Given the description of an element on the screen output the (x, y) to click on. 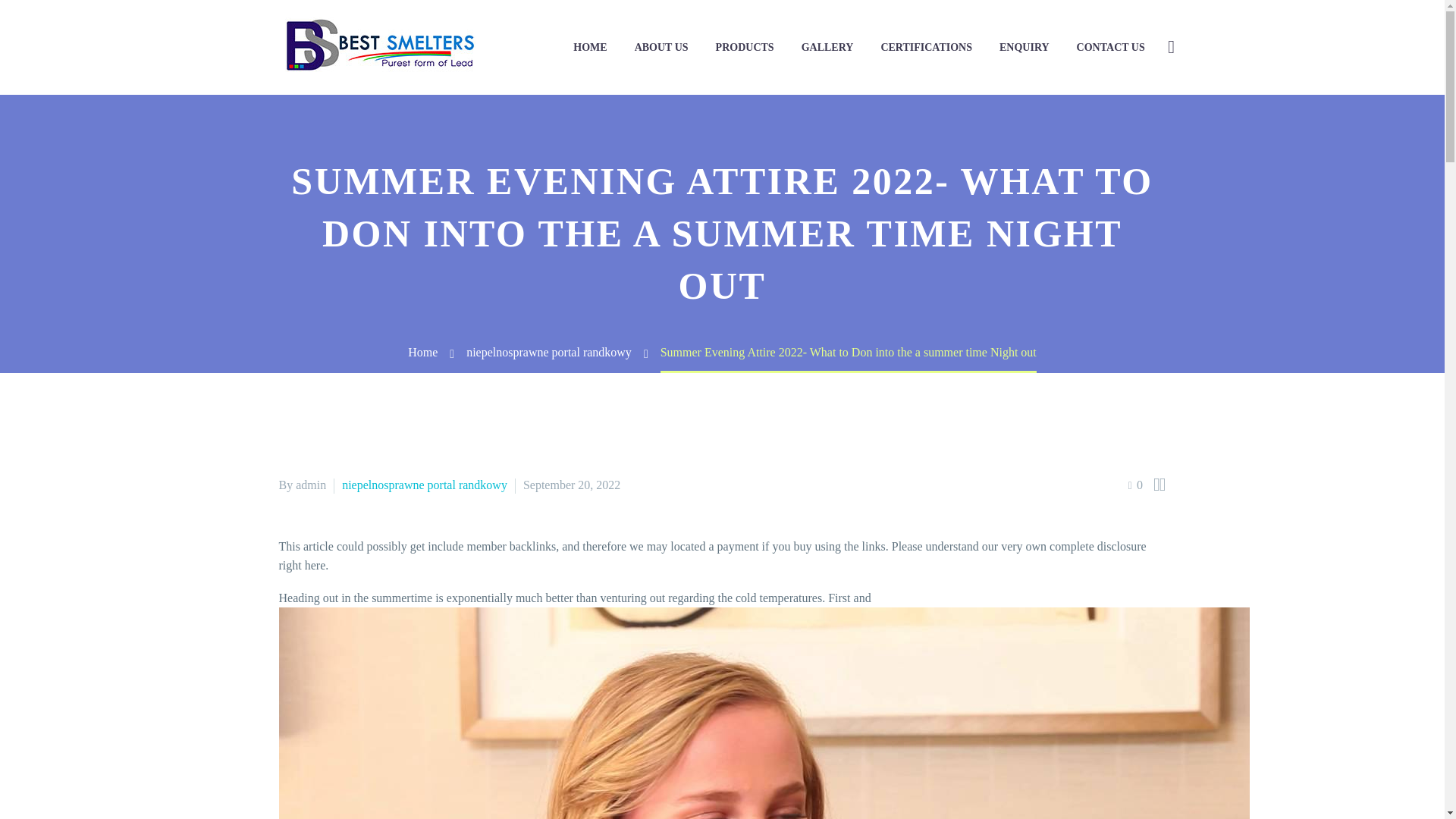
niepelnosprawne portal randkowy (548, 351)
View all posts in niepelnosprawne portal randkowy (424, 484)
0 (1135, 484)
Home (422, 351)
niepelnosprawne portal randkowy (424, 484)
HOME (589, 46)
ENQUIRY (1024, 46)
PRODUCTS (745, 46)
CONTACT US (1110, 46)
ABOUT US (661, 46)
CERTIFICATIONS (926, 46)
GALLERY (827, 46)
